Given the description of an element on the screen output the (x, y) to click on. 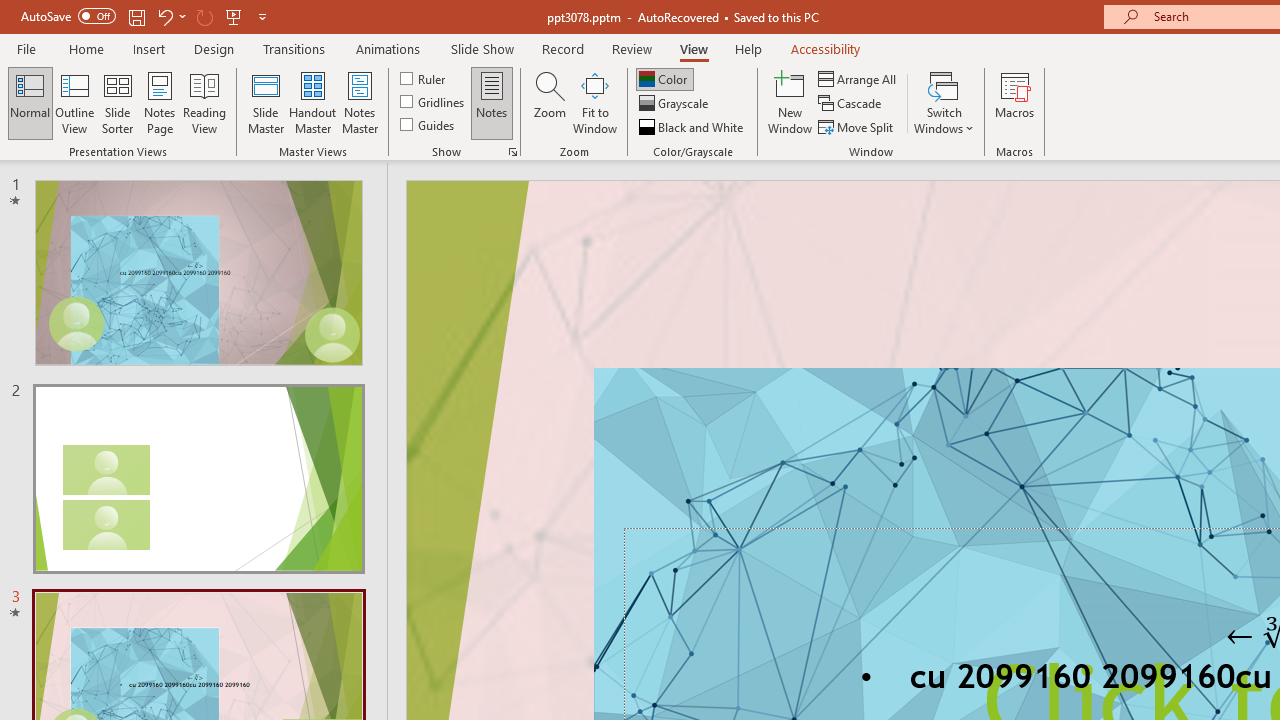
Black and White (693, 126)
Outline View (74, 102)
Notes Master (360, 102)
Slide Master (265, 102)
Handout Master (312, 102)
Zoom... (549, 102)
Notes Page (159, 102)
